Given the description of an element on the screen output the (x, y) to click on. 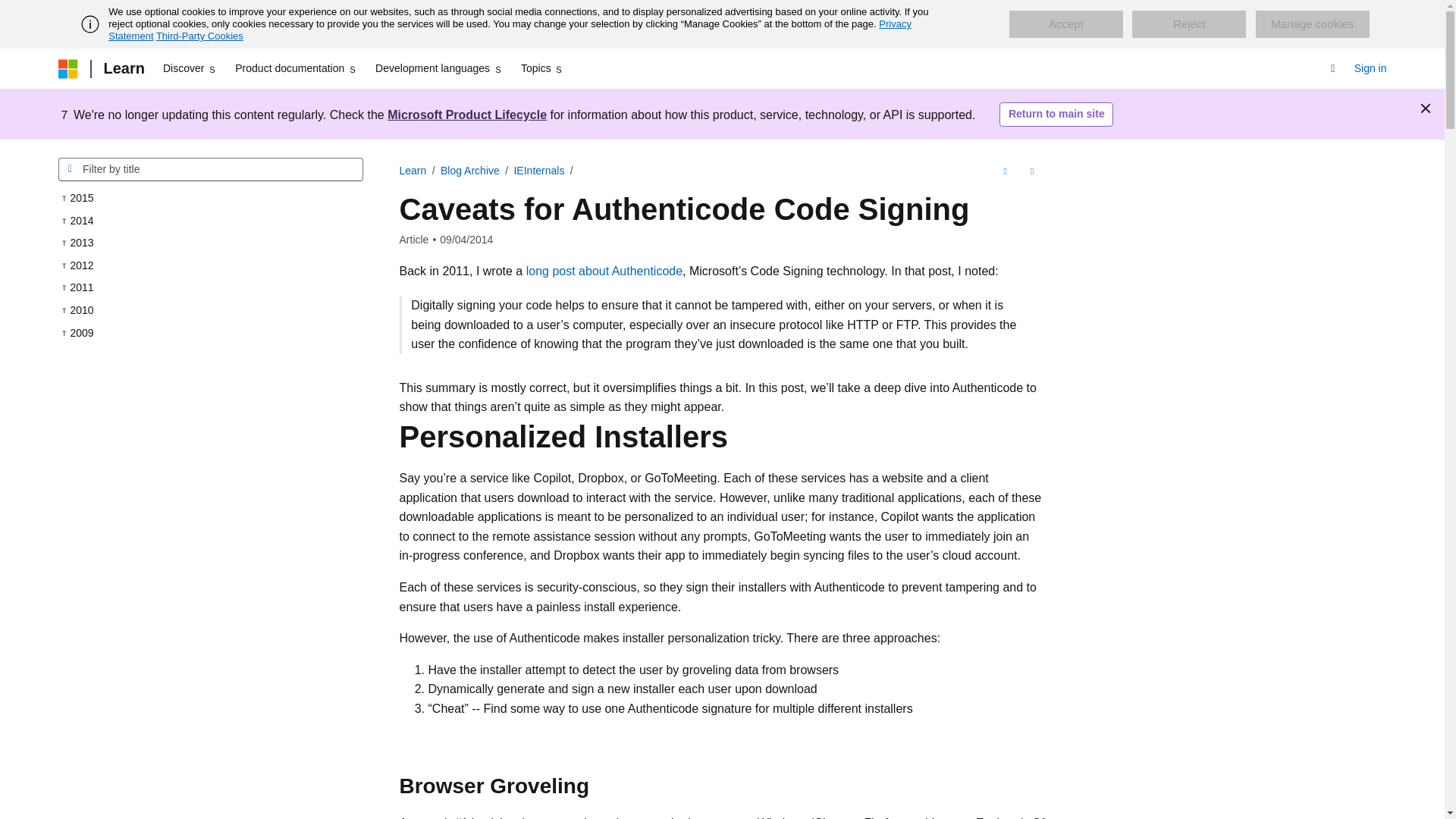
Microsoft Product Lifecycle (467, 114)
Third-Party Cookies (199, 35)
Product documentation (295, 68)
Topics (542, 68)
Dismiss alert (1425, 108)
Blog Archive (470, 170)
Learn (412, 170)
IEInternals (538, 170)
Learn (123, 68)
Privacy Statement (509, 29)
